Given the description of an element on the screen output the (x, y) to click on. 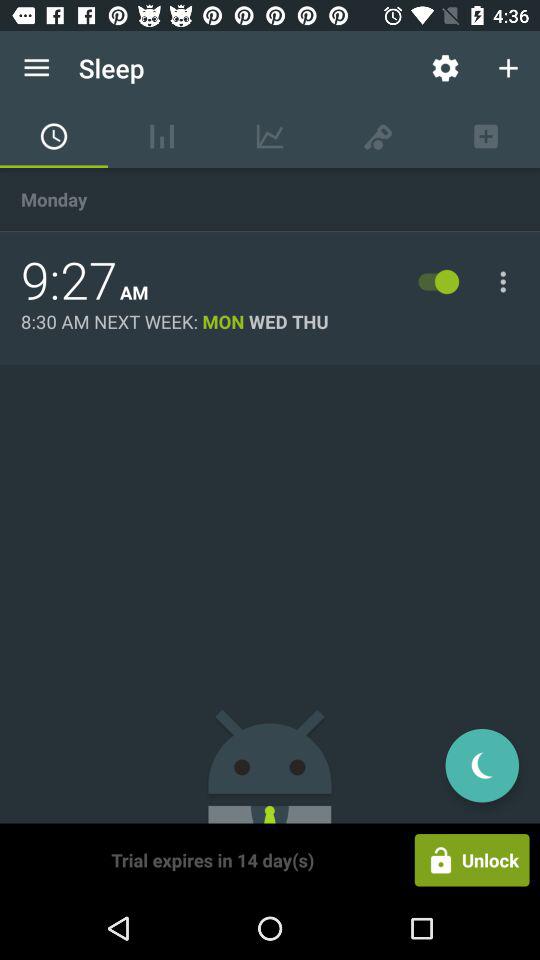
click the app to the right of sleep (444, 67)
